Given the description of an element on the screen output the (x, y) to click on. 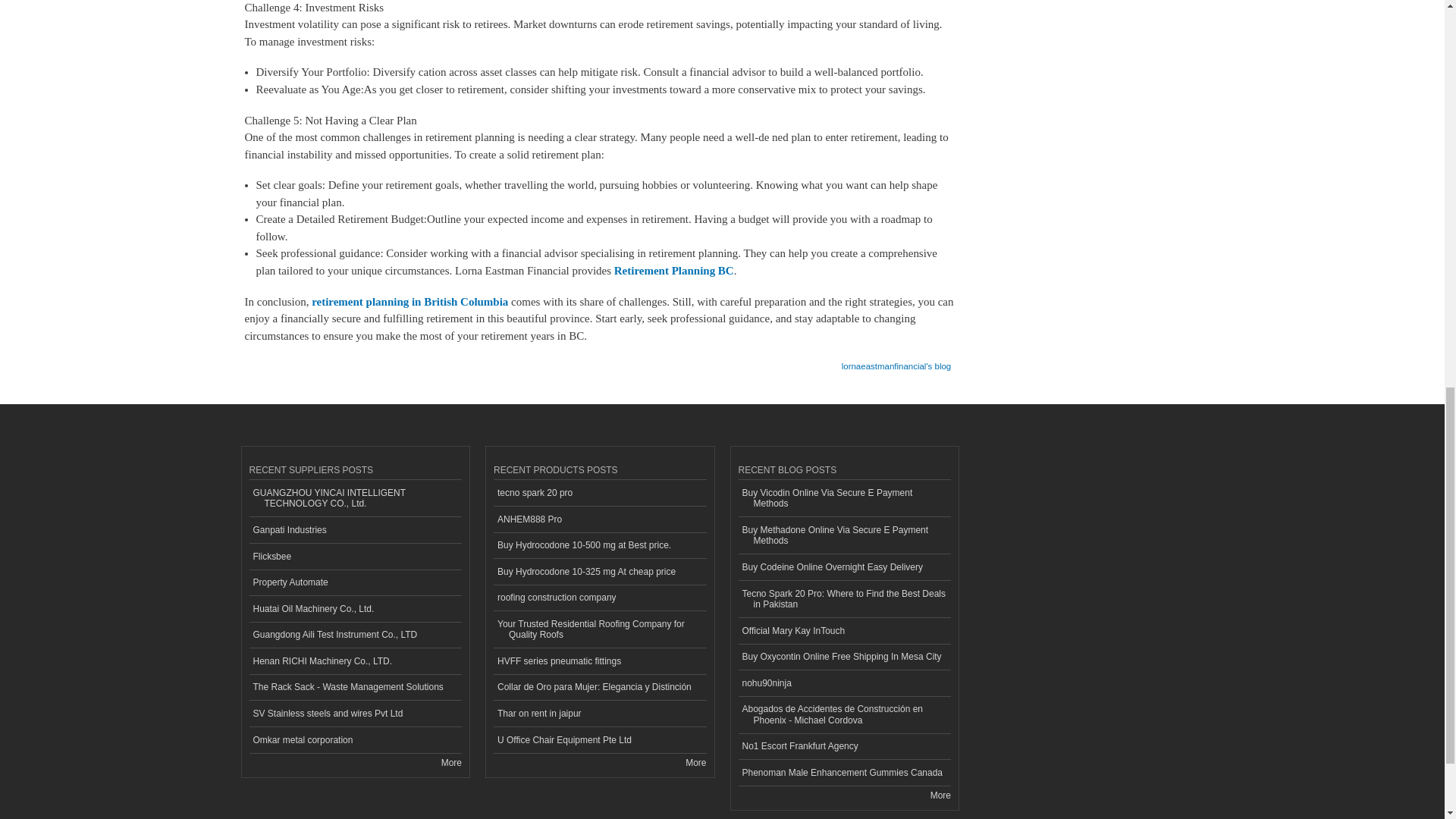
roofing construction company (599, 598)
Flicksbee (354, 556)
Henan RICHI Machinery Co., LTD. (354, 661)
The Rack Sack - Waste Management Solutions (354, 687)
Ganpati Industries (354, 529)
Guangdong Aili Test Instrument Co., LTD (354, 635)
Property Automate (354, 583)
SV Stainless steels and wires Pvt Ltd (354, 714)
Read the latest suppliers entries. (451, 762)
Omkar metal corporation (354, 740)
